Given the description of an element on the screen output the (x, y) to click on. 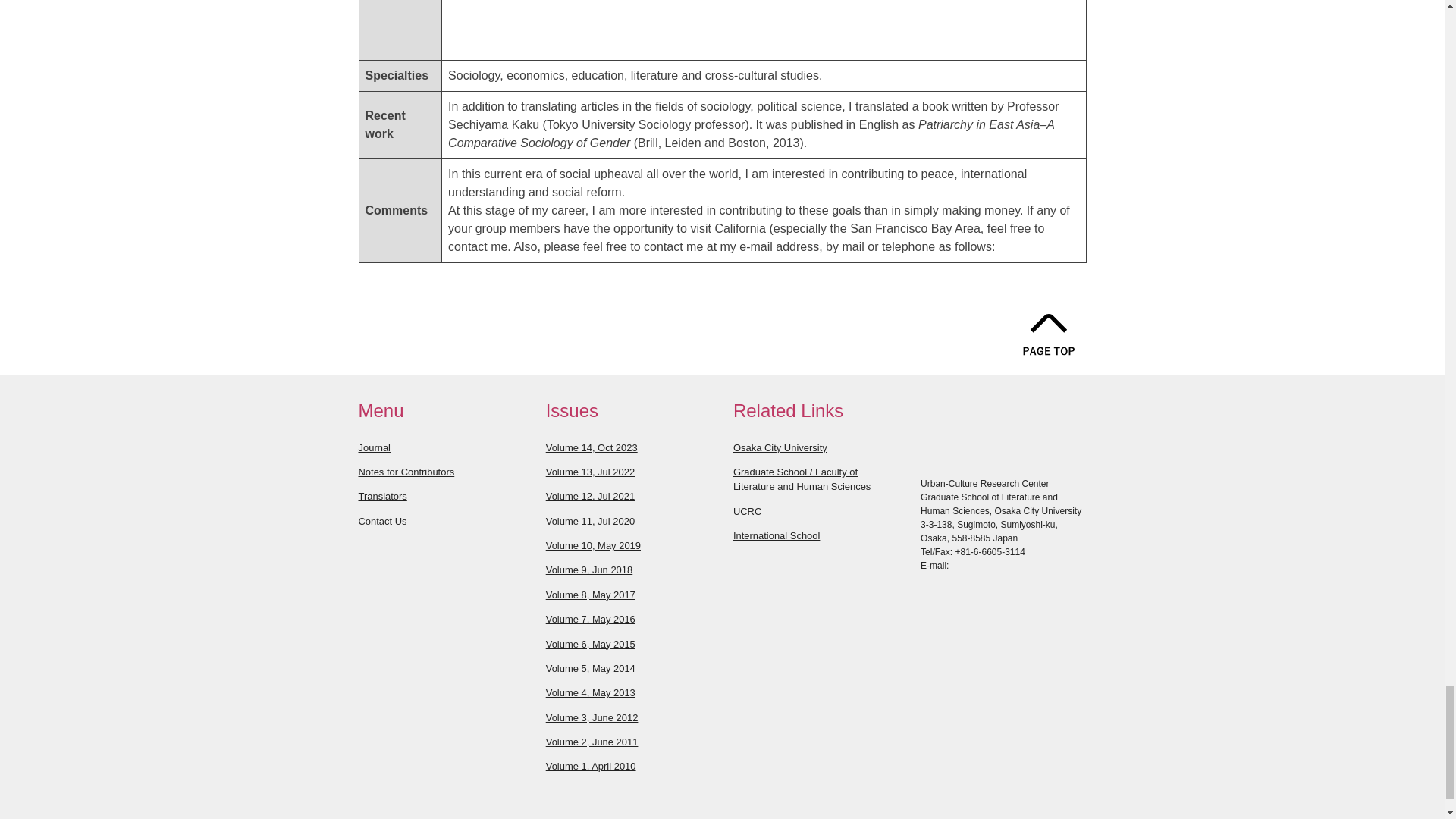
Volume 9, Jun 2018 (589, 569)
Volume 10, May 2019 (593, 545)
Volume 13, Jul 2022 (590, 471)
UCRC (747, 511)
Osaka City University (780, 447)
Volume 7, May 2016 (590, 618)
Volume 12, Jul 2021 (590, 496)
Volume 2, June 2011 (592, 741)
Volume 3, June 2012 (592, 717)
Volume 8, May 2017 (590, 594)
Notes for Contributors (406, 471)
Contact Us (382, 521)
Volume 1, April 2010 (591, 766)
Volume 6, May 2015 (590, 644)
International School (777, 535)
